Given the description of an element on the screen output the (x, y) to click on. 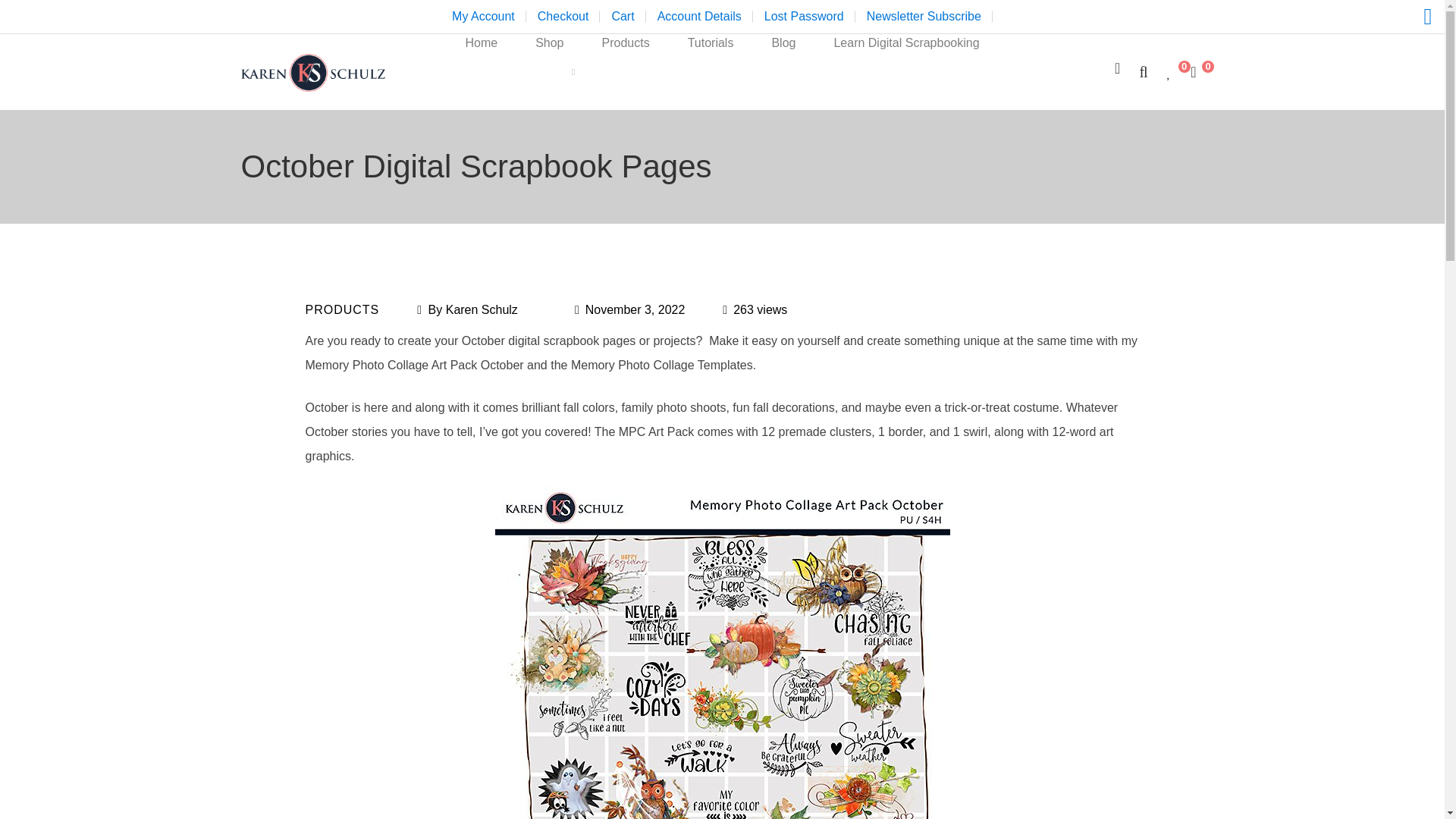
Newsletter Subscribe (923, 16)
Home (480, 71)
Tutorials (710, 71)
Lost Password (804, 16)
Checkout (563, 16)
Learn Digital Scrapbooking (905, 71)
My Account (483, 16)
Products (625, 71)
Account Details (699, 16)
